Given the description of an element on the screen output the (x, y) to click on. 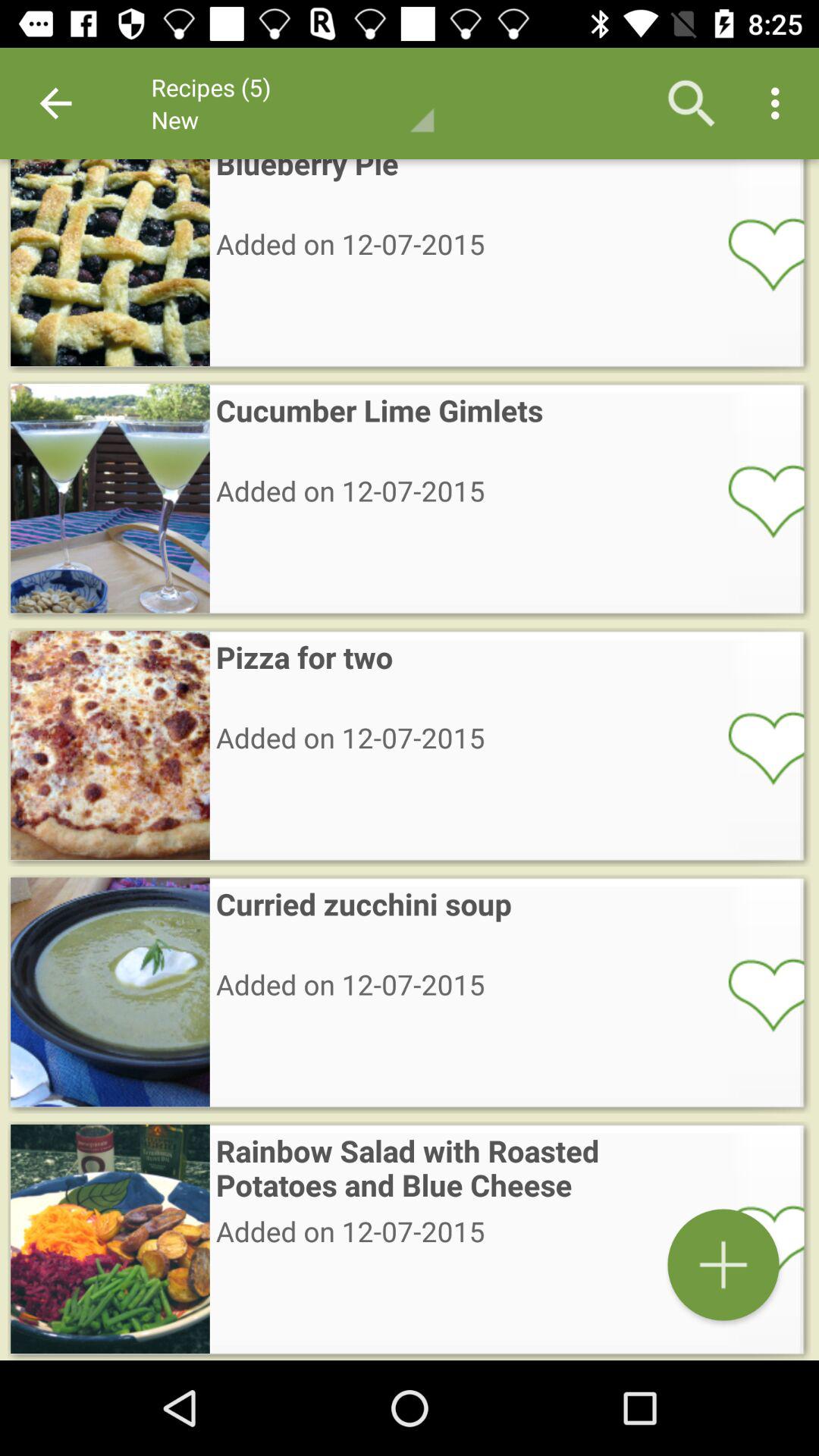
add to favorites (756, 993)
